Given the description of an element on the screen output the (x, y) to click on. 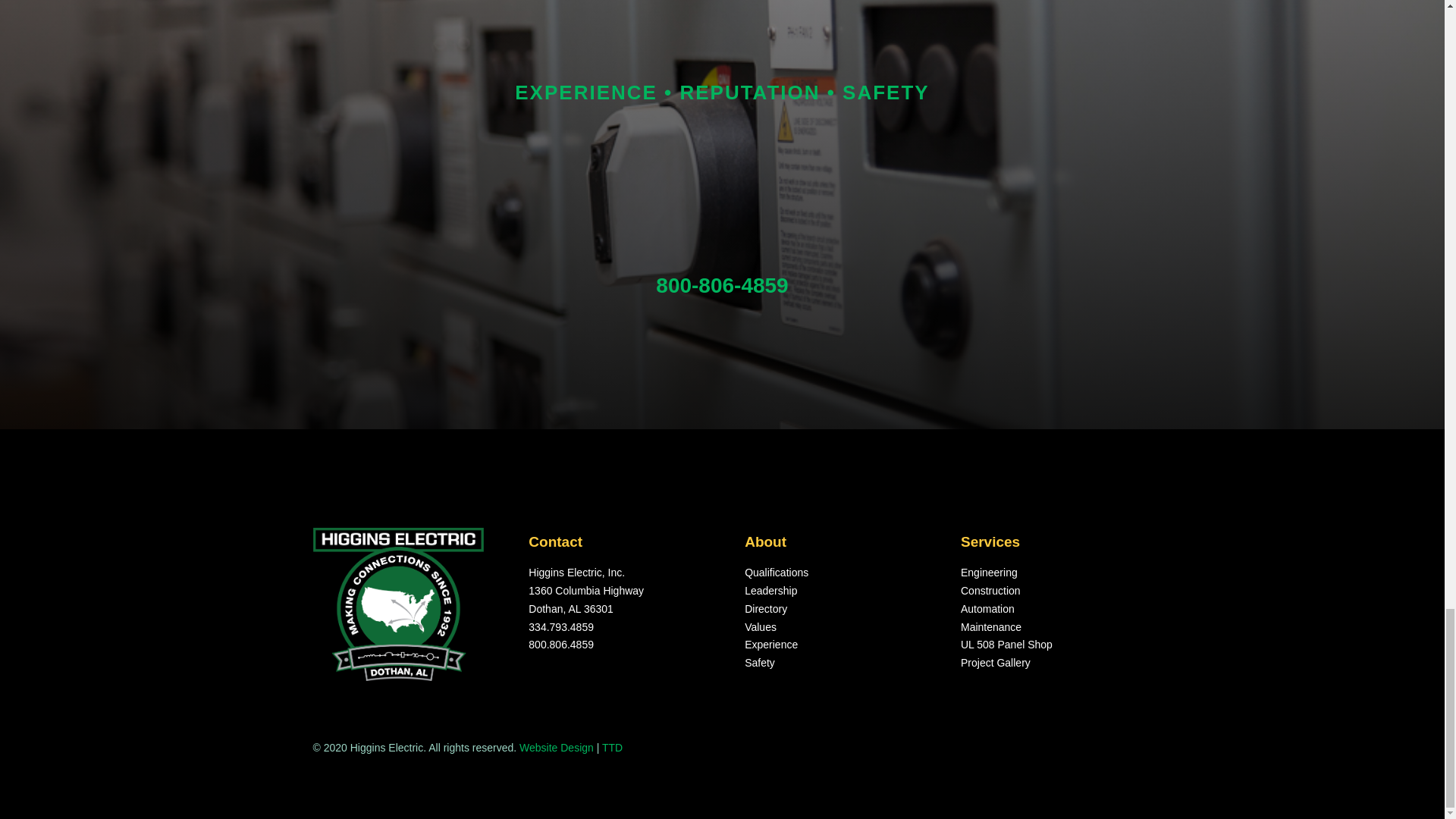
Qualifications (776, 572)
Higgins-Logo-Color (398, 603)
800-806-4859 (721, 285)
Leadership (770, 590)
